Given the description of an element on the screen output the (x, y) to click on. 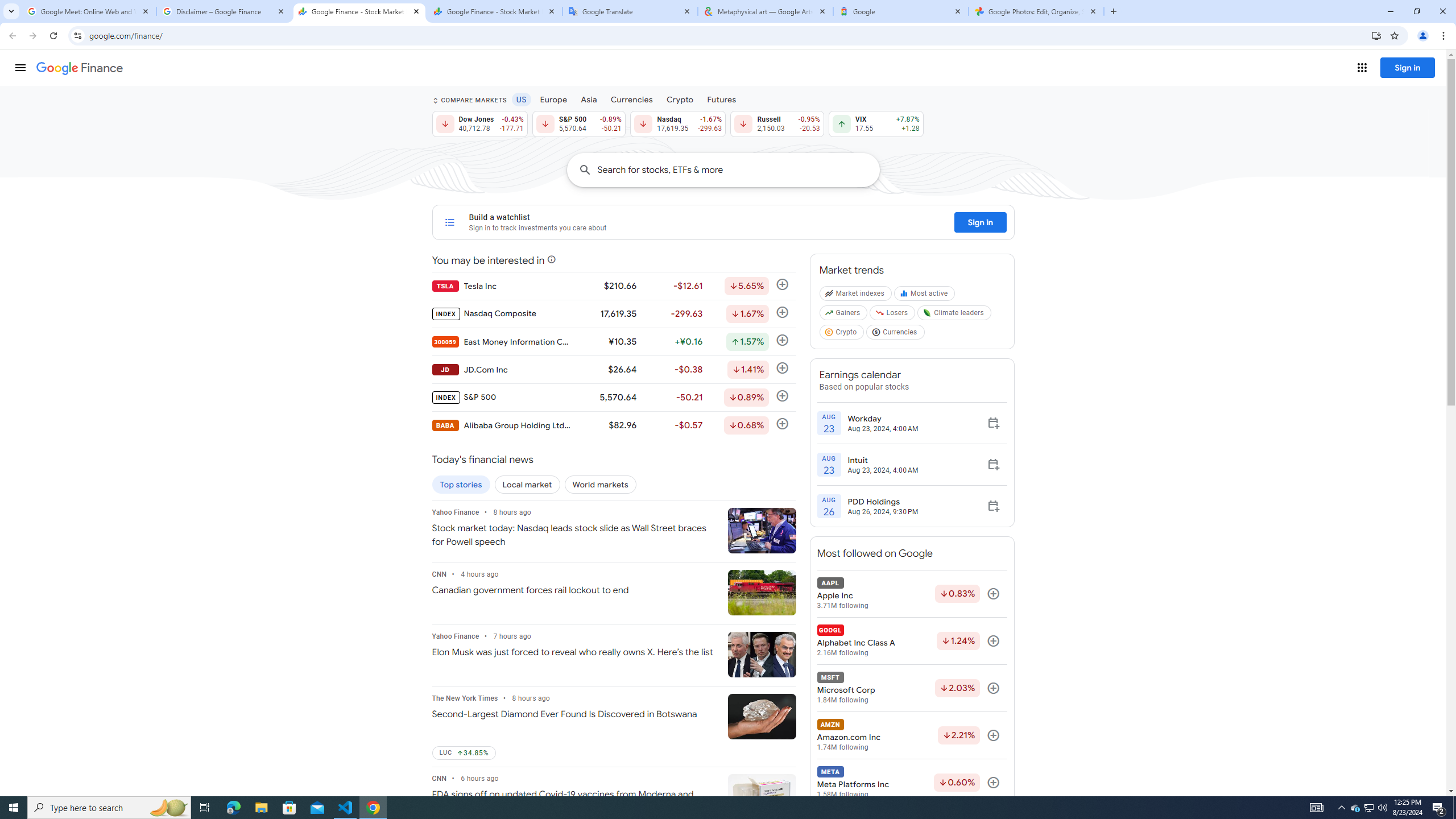
Finance (79, 68)
VIX 17.55 Up by 7.87% +1.28 (875, 123)
GLeaf logo (927, 312)
Intuit (882, 460)
S&P 500 5,570.64 Down by 0.89% -50.21 (578, 123)
Crypto (679, 99)
COMPARE MARKETS (468, 100)
INDEX S&P 500 5,570.64 -50.21 Down by 0.89% Follow (613, 396)
